Given the description of an element on the screen output the (x, y) to click on. 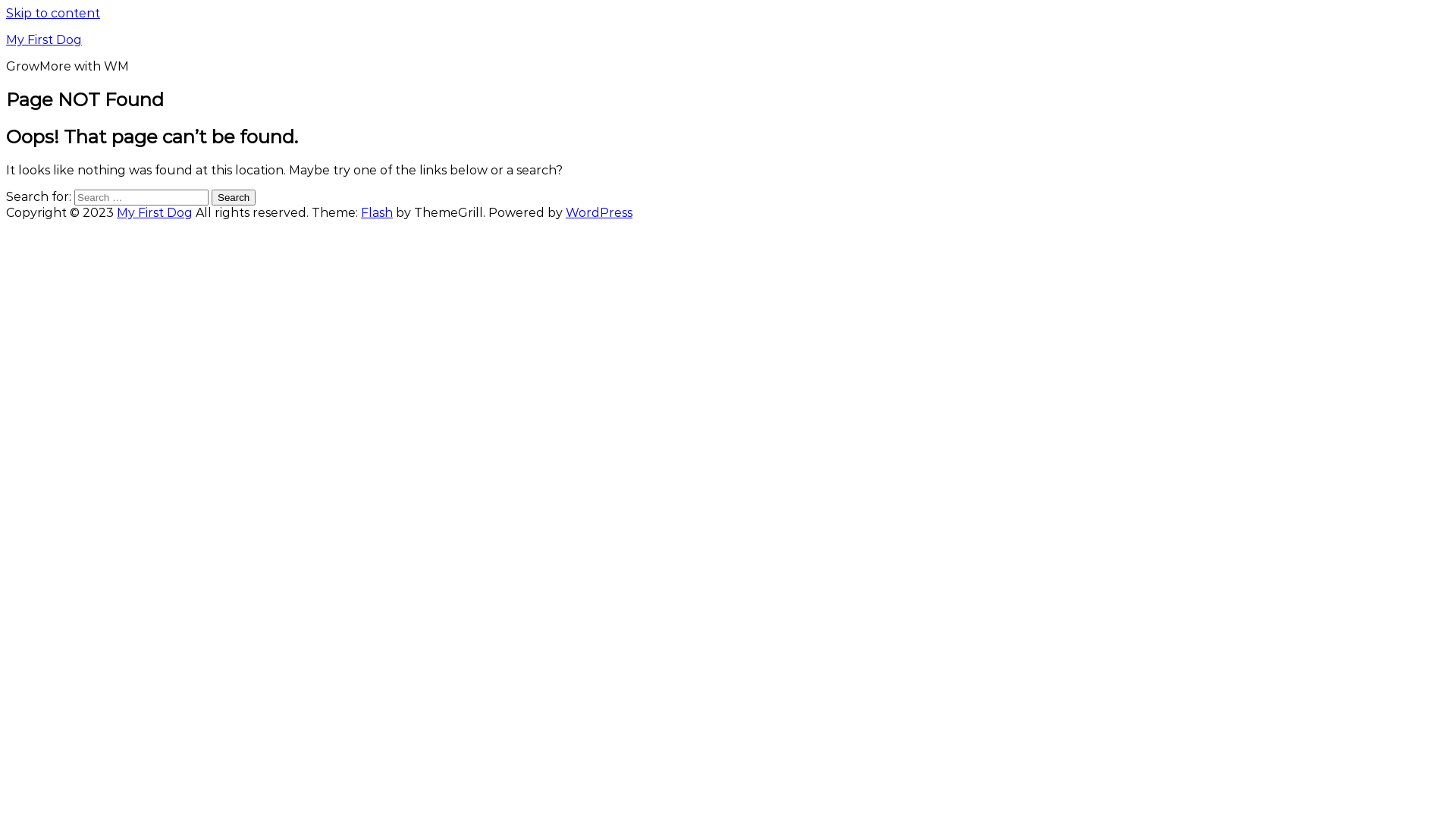
My First Dog Element type: text (154, 212)
My First Dog Element type: text (43, 39)
Search Element type: text (233, 197)
WordPress Element type: text (598, 212)
Skip to content Element type: text (53, 13)
Flash Element type: text (376, 212)
